Given the description of an element on the screen output the (x, y) to click on. 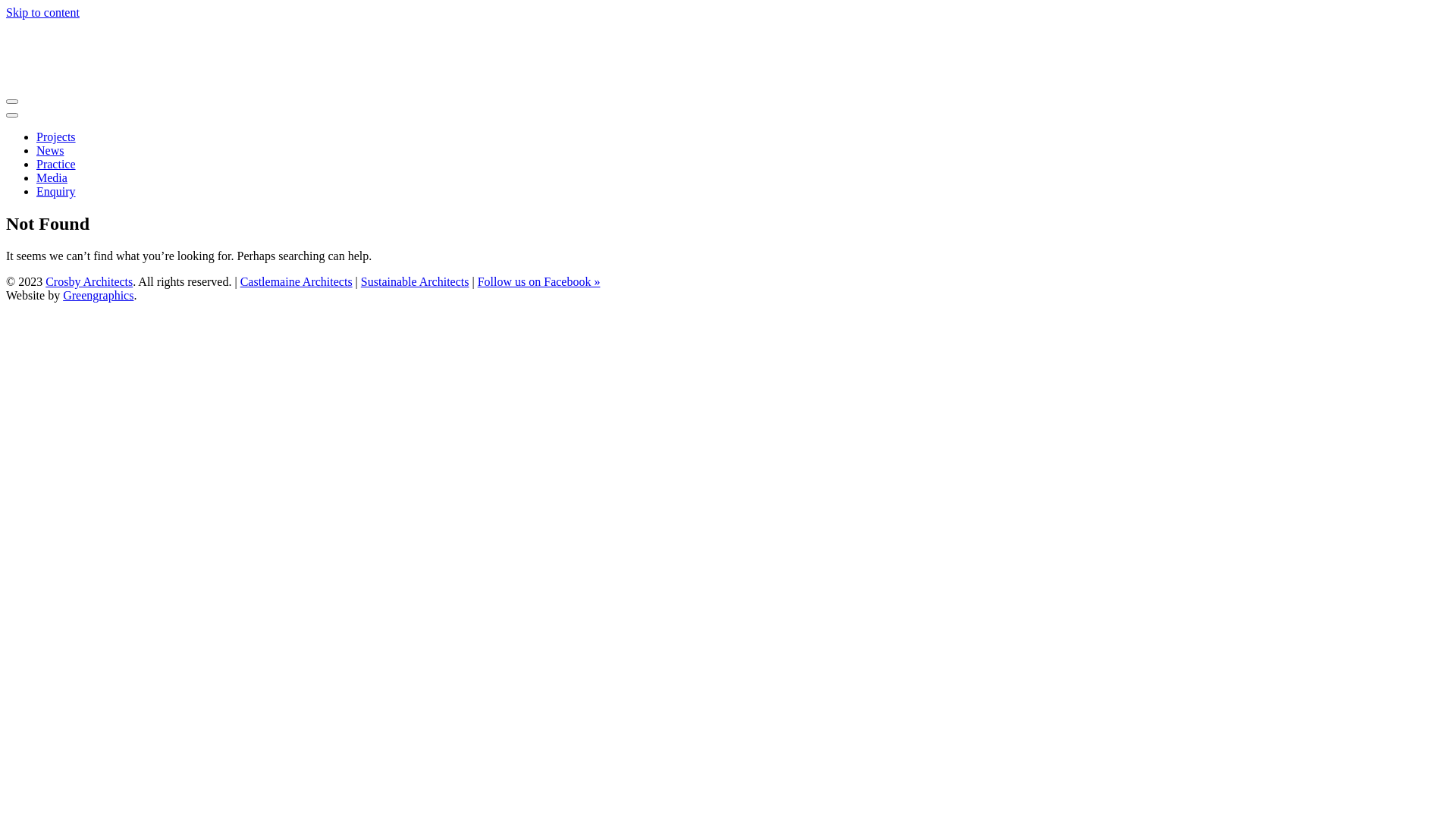
Castlemaine Architects Element type: text (296, 281)
Greengraphics Element type: text (97, 294)
News Element type: text (49, 150)
Crosby Architects Element type: text (88, 281)
Practice Element type: text (55, 163)
Projects Element type: text (55, 136)
Sustainable Architects Element type: text (414, 281)
Media Element type: text (51, 177)
Enquiry Element type: text (55, 191)
Skip to content Element type: text (42, 12)
